Given the description of an element on the screen output the (x, y) to click on. 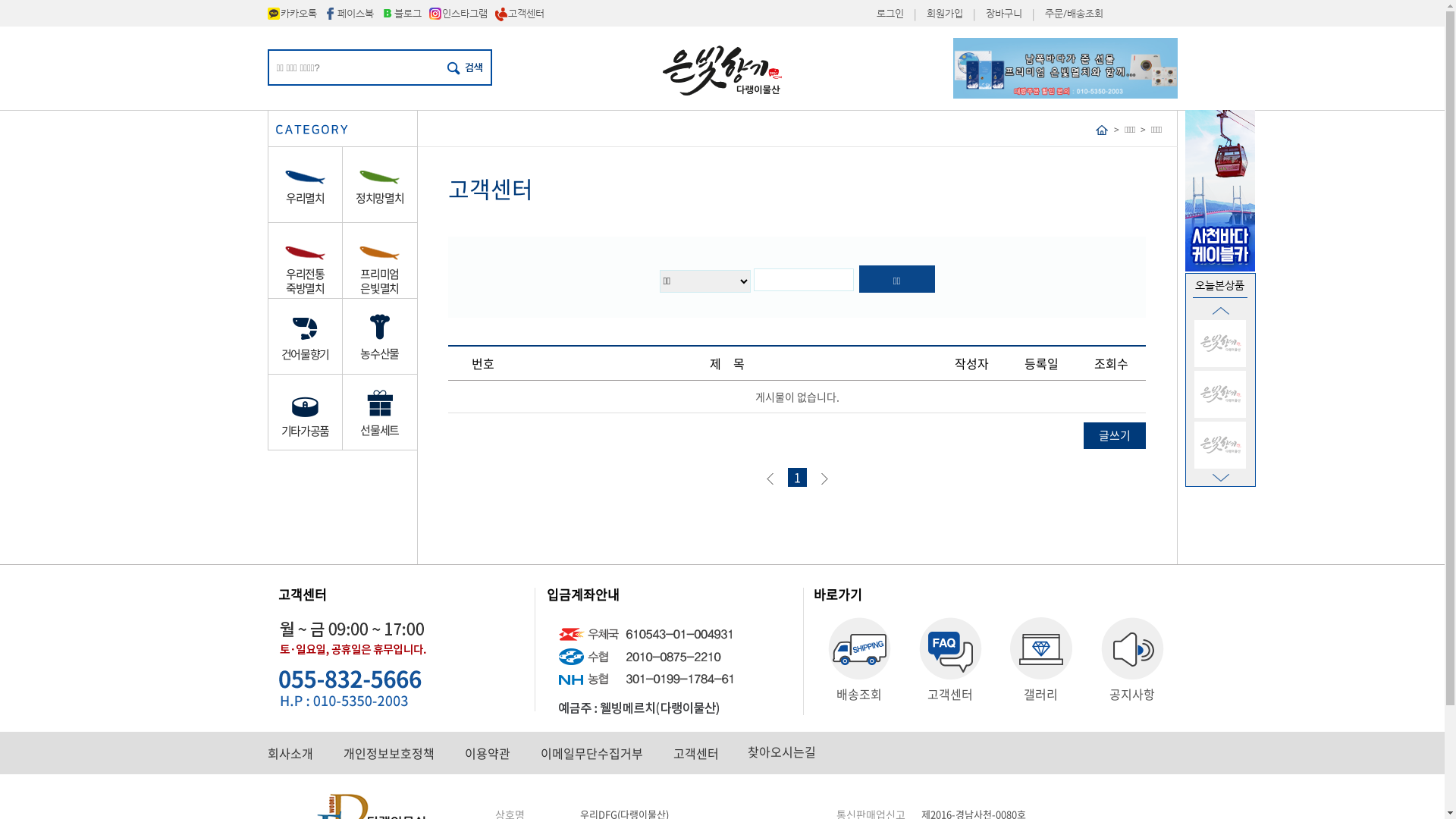
1 Element type: text (796, 476)
